Given the description of an element on the screen output the (x, y) to click on. 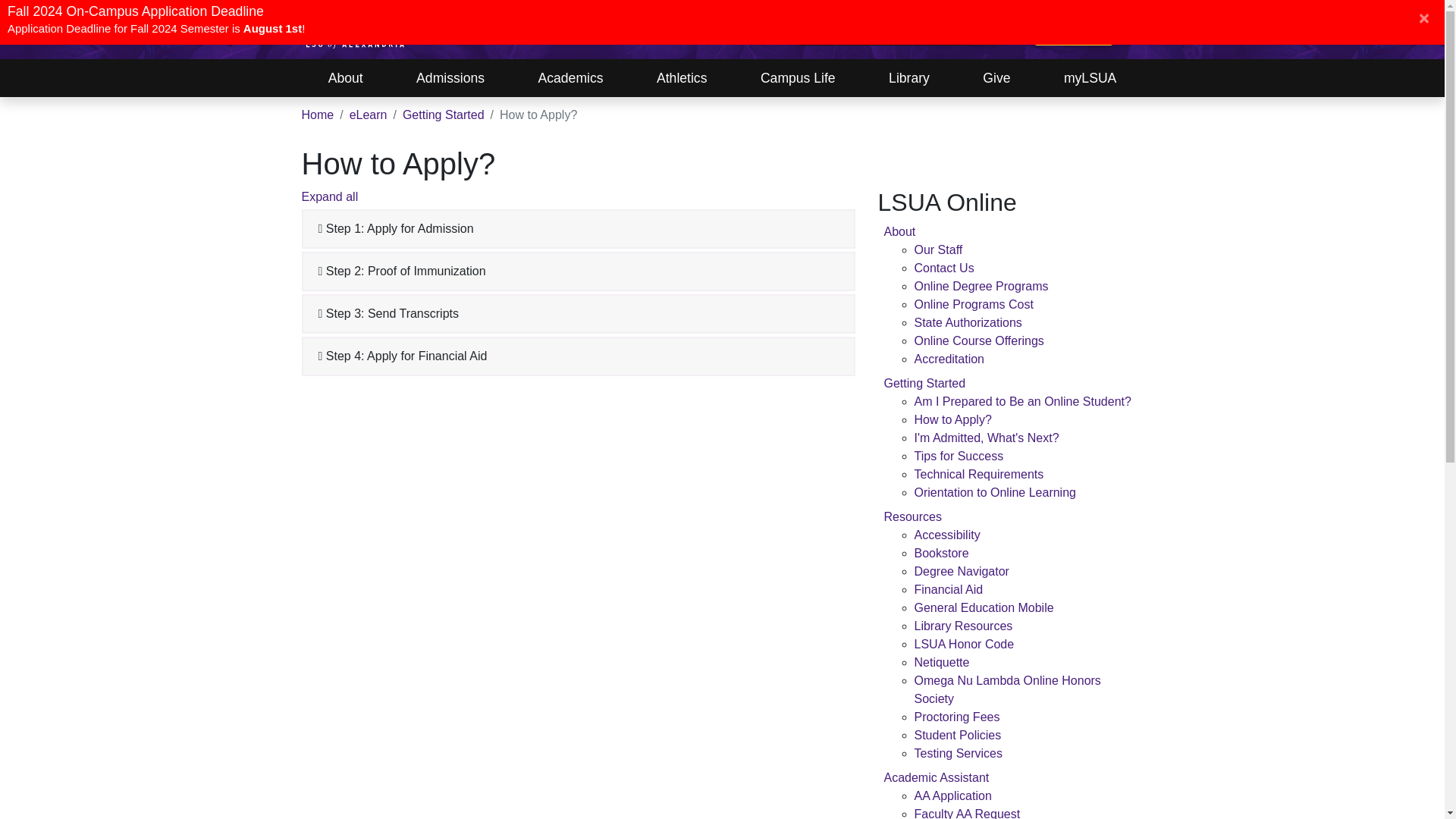
LSUA Home (355, 30)
